Given the description of an element on the screen output the (x, y) to click on. 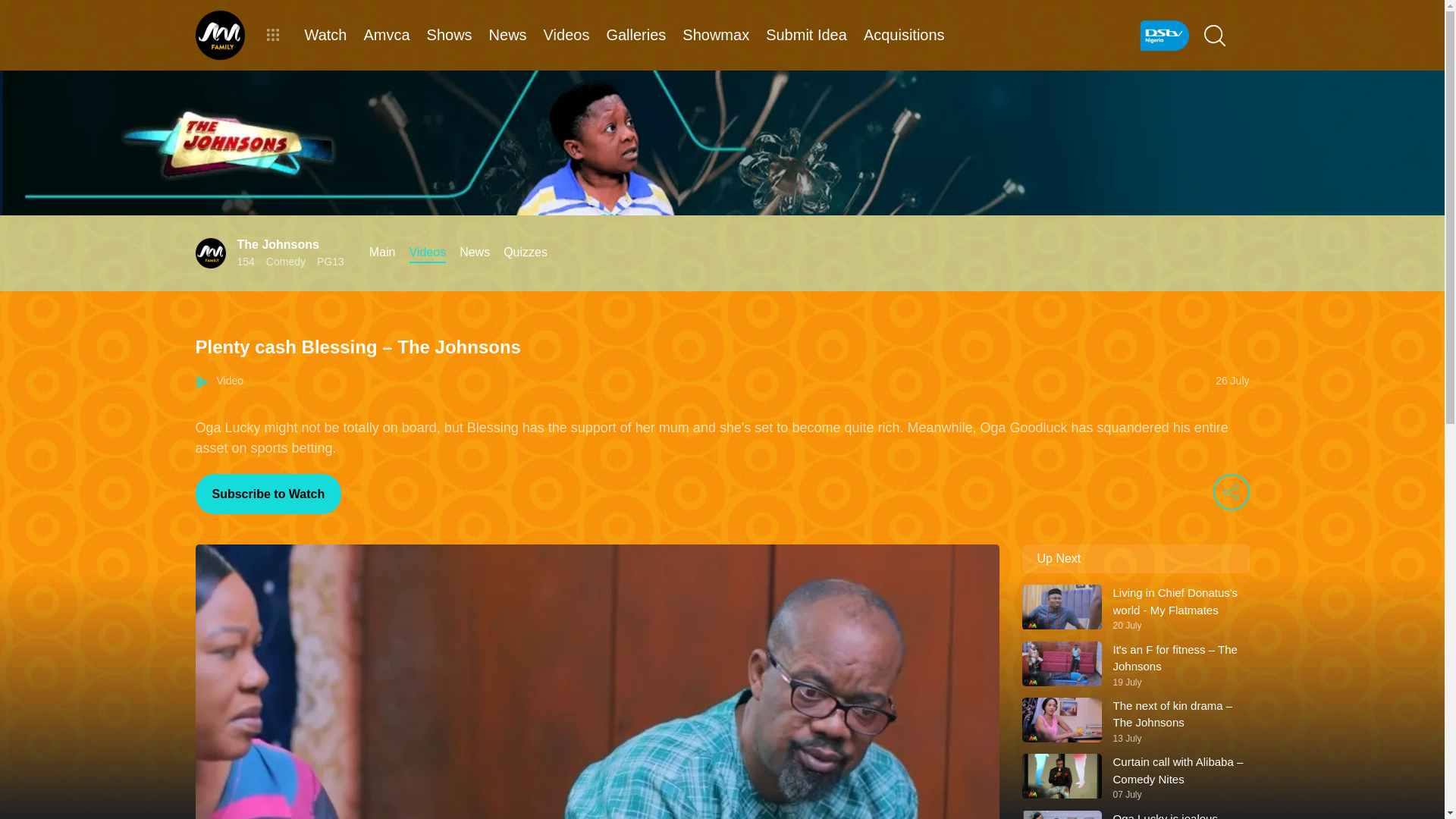
News (474, 252)
Main (382, 252)
Videos (427, 252)
Subscribe to Watch (1135, 608)
Quizzes (268, 494)
